Given the description of an element on the screen output the (x, y) to click on. 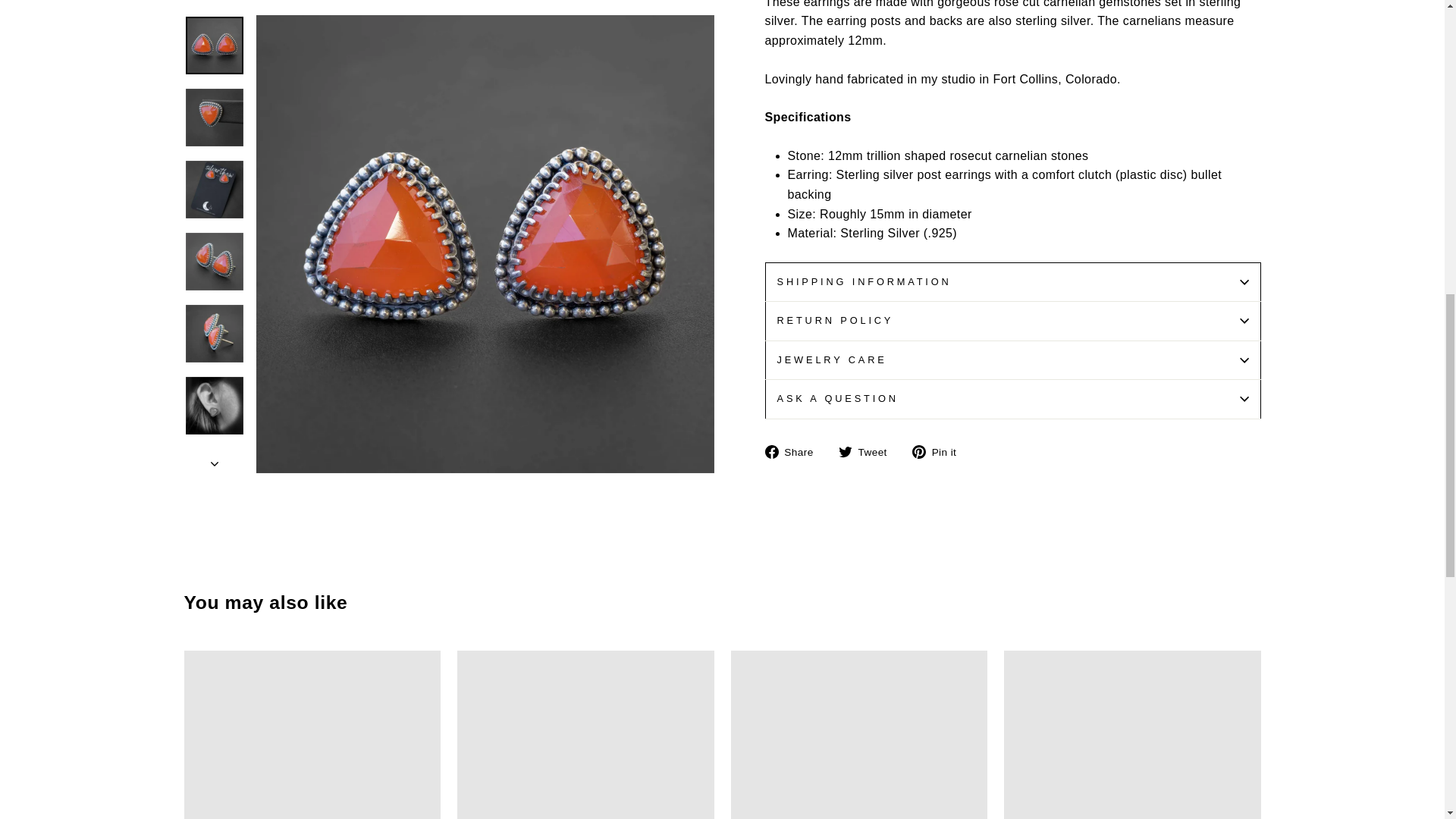
Pin on Pinterest (940, 451)
Tweet on Twitter (868, 451)
Share on Facebook (794, 451)
twitter (844, 451)
